Given the description of an element on the screen output the (x, y) to click on. 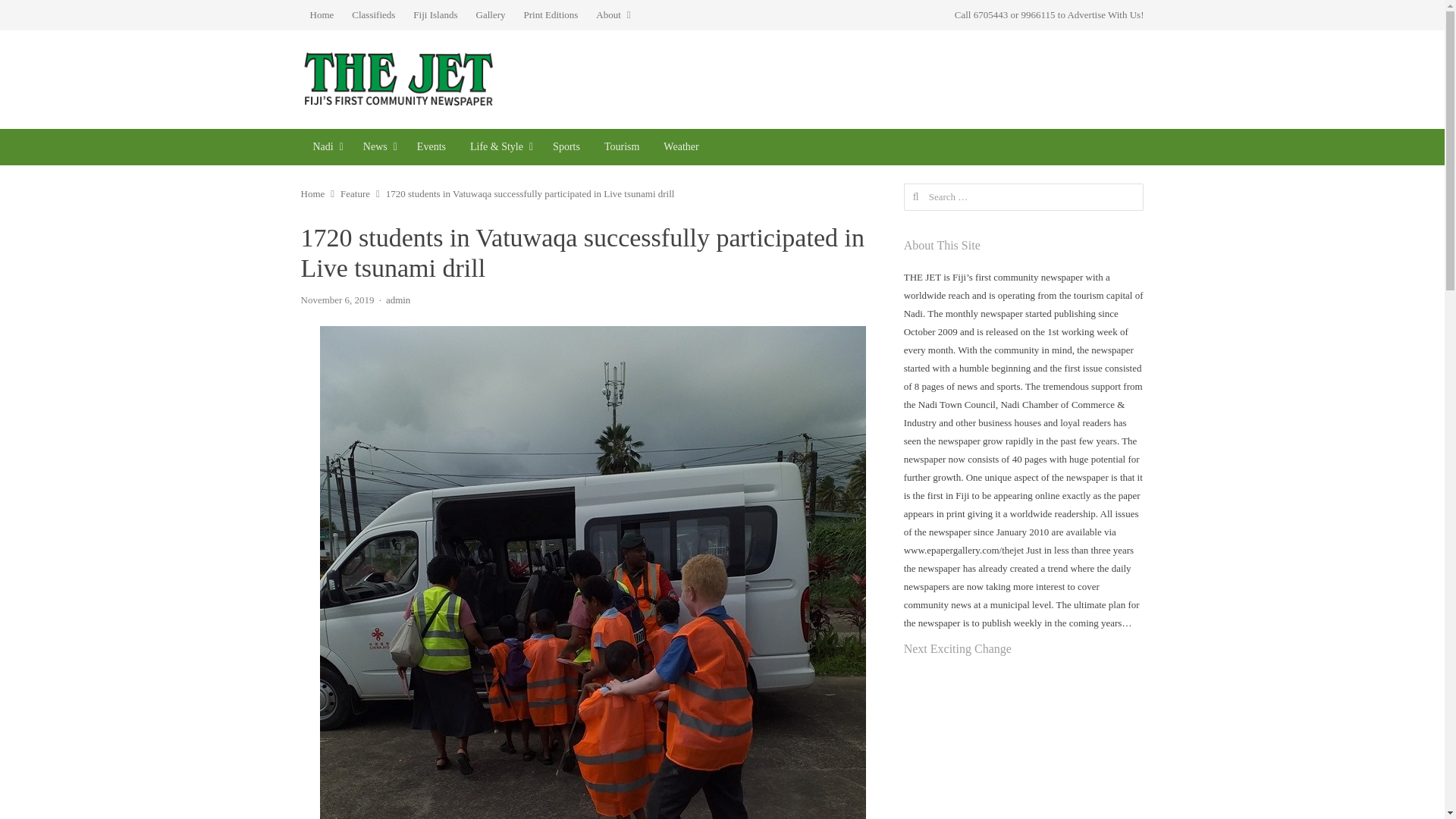
About (612, 14)
Home (320, 14)
Fiji Islands (434, 14)
Classifieds (373, 14)
NADI CDN (324, 146)
Gallery (491, 14)
Print Editions (549, 14)
